Given the description of an element on the screen output the (x, y) to click on. 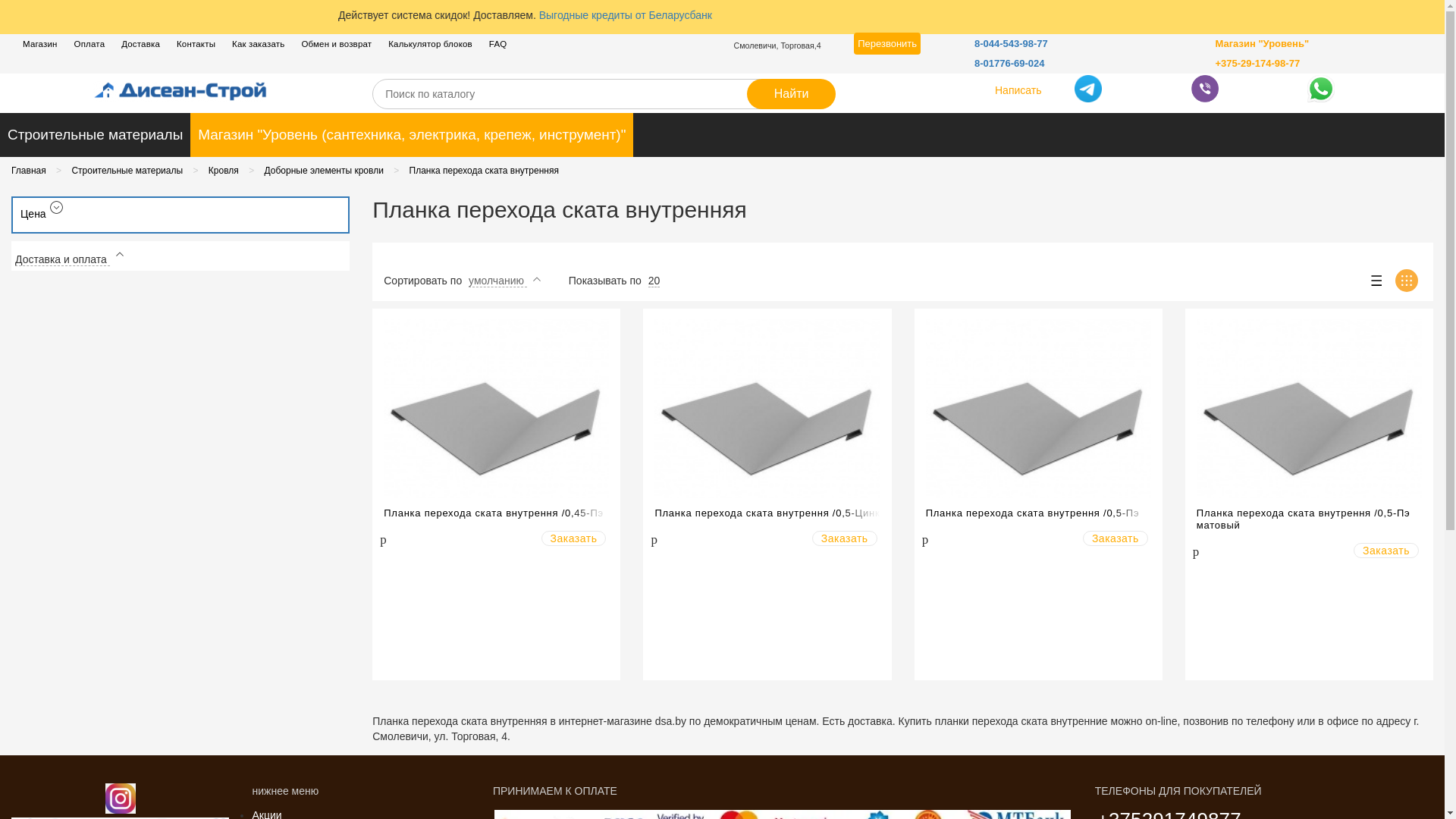
FAQ Element type: text (494, 45)
8-044-543-98-77 Element type: text (1011, 43)
+375-29-174-98-77 Element type: text (1256, 63)
8-01776-69-024 Element type: text (1009, 63)
